Given the description of an element on the screen output the (x, y) to click on. 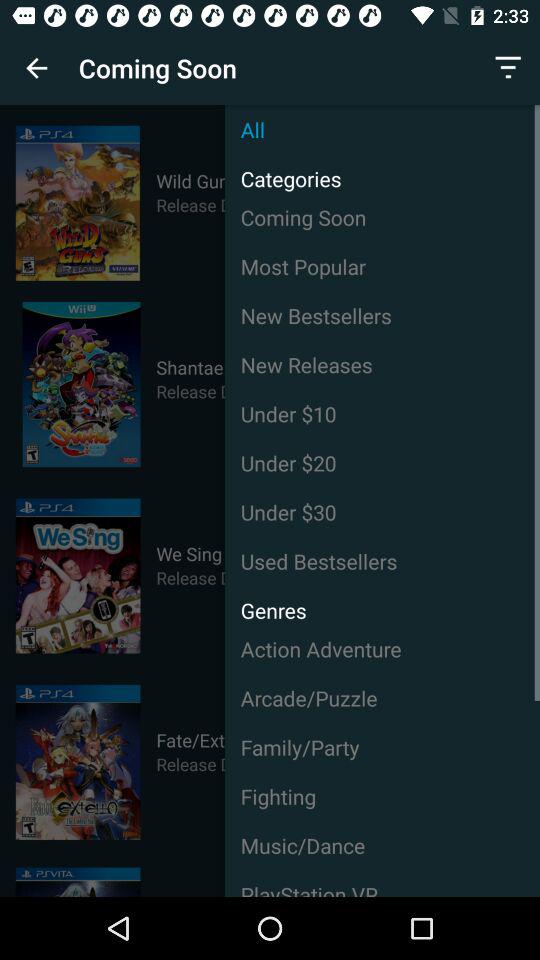
jump to arcade/puzzle icon (382, 698)
